Given the description of an element on the screen output the (x, y) to click on. 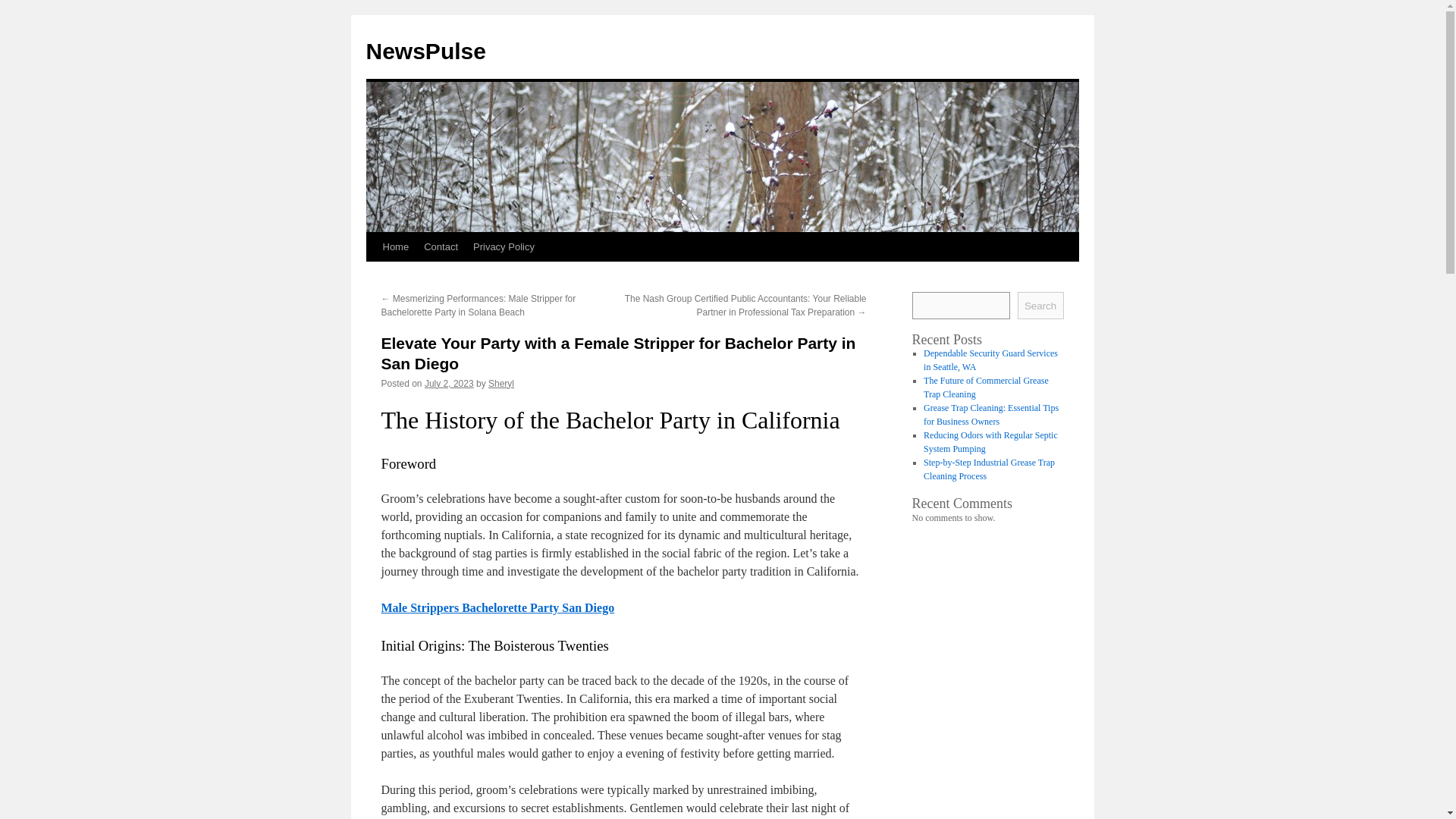
View all posts by Sheryl (500, 383)
Male Strippers Bachelorette Party San Diego (497, 607)
Reducing Odors with Regular Septic System Pumping (990, 441)
The Future of Commercial Grease Trap Cleaning (985, 387)
Contact (440, 246)
Grease Trap Cleaning: Essential Tips for Business Owners (990, 414)
NewsPulse (424, 50)
Home (395, 246)
Sheryl (500, 383)
July 2, 2023 (449, 383)
Privacy Policy (503, 246)
Step-by-Step Industrial Grease Trap Cleaning Process (988, 469)
9:08 pm (449, 383)
Dependable Security Guard Services in Seattle, WA (990, 360)
Search (1040, 305)
